Given the description of an element on the screen output the (x, y) to click on. 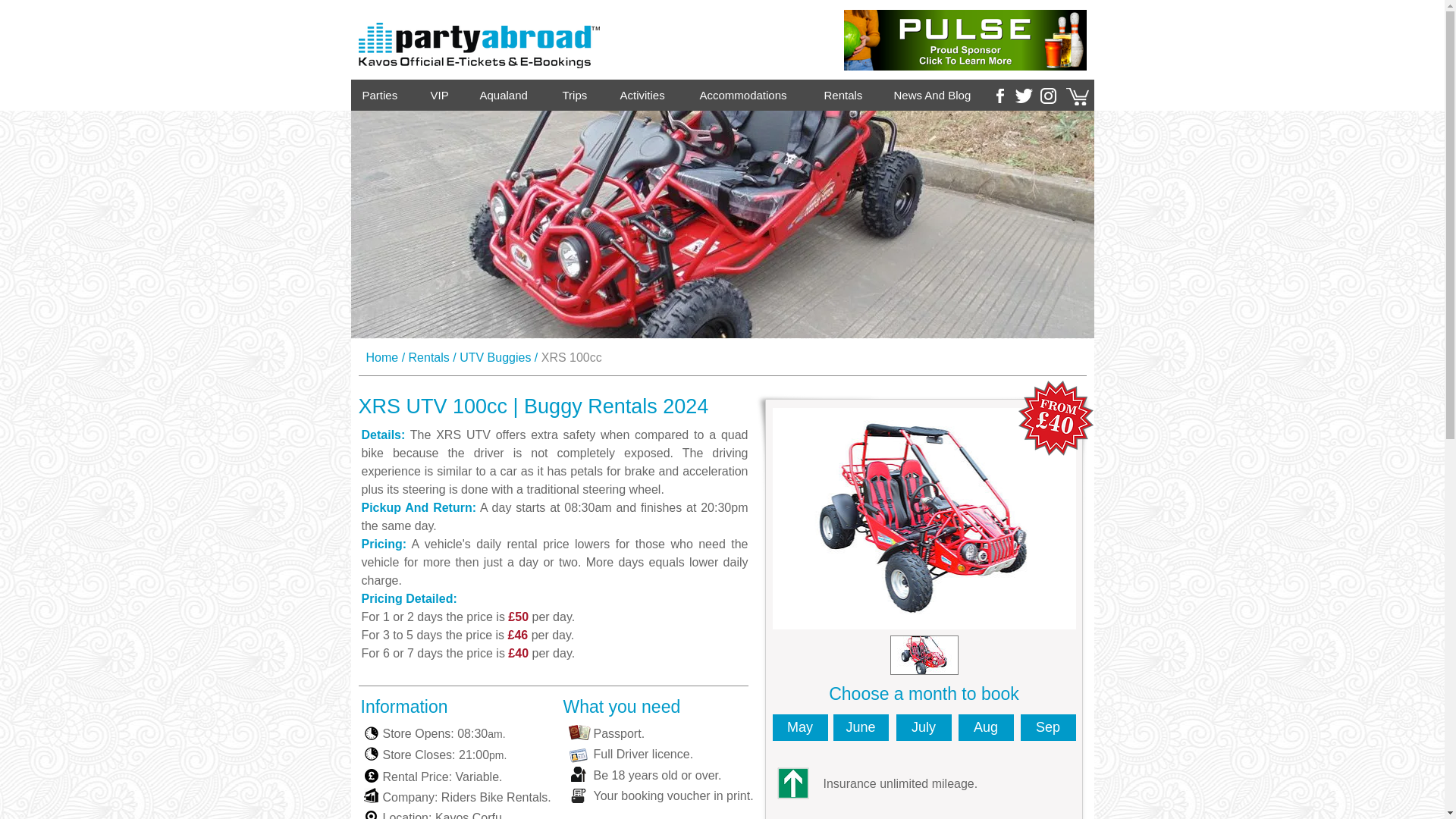
Trips (579, 94)
Passport.png (580, 732)
Home (381, 357)
Unlimited Mileage.png (792, 783)
Rentals (847, 94)
Activities (647, 94)
Sep (1047, 727)
Parties (384, 94)
May (799, 727)
UTV Buggies (495, 357)
Kavos Corfu Trip Duration.png (371, 733)
Money Icon Pound.png (370, 775)
Kavos Location.png (371, 814)
E Voucher Printout Logo.png (577, 795)
Aug (985, 727)
